Given the description of an element on the screen output the (x, y) to click on. 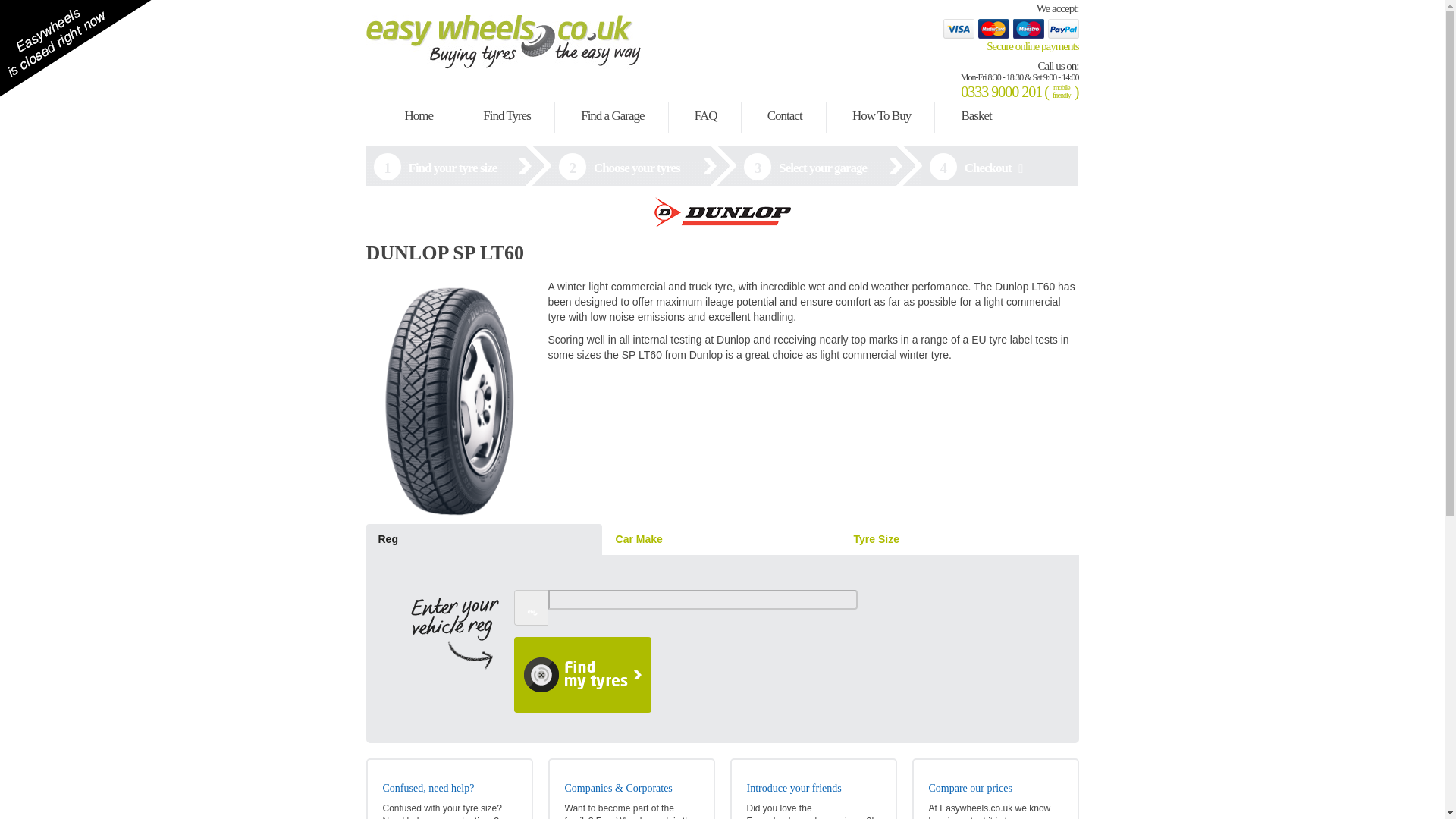
Find Tyres (507, 116)
Basket (975, 116)
How To Buy (881, 116)
Tyre Size (959, 540)
FAQ (706, 116)
Home (418, 116)
Car Make (722, 540)
Find a Garage (611, 116)
Contact (784, 116)
Reg (483, 540)
